Given the description of an element on the screen output the (x, y) to click on. 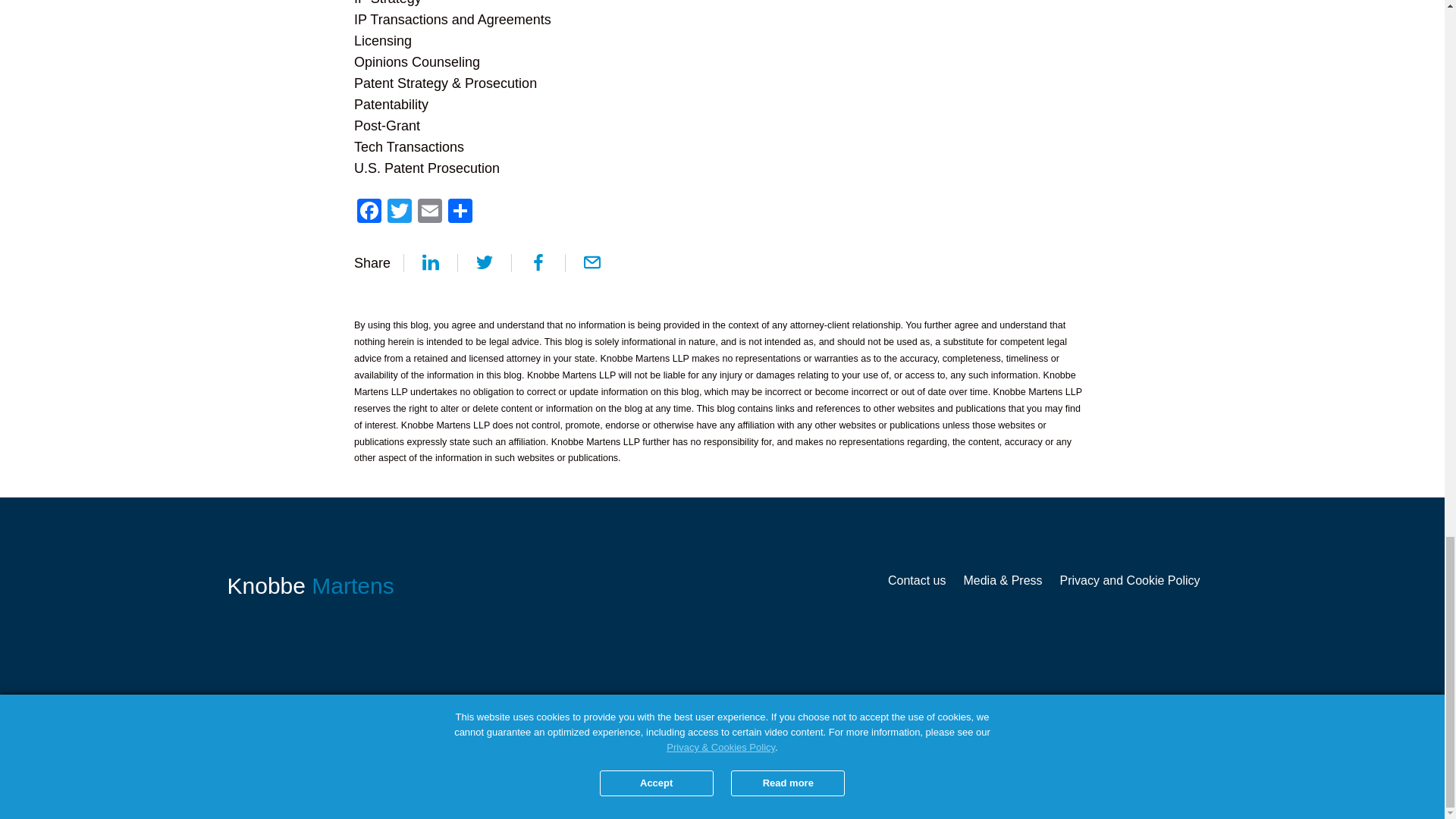
Facebook (368, 212)
Twitter (399, 212)
Email (429, 212)
Legal Disclaimer (1092, 718)
Privacy and Cookie Policy (1129, 580)
Attorney Advertising (1177, 718)
Knobbe Martens (310, 586)
Email (429, 212)
Contact us (916, 580)
Facebook (368, 212)
